Given the description of an element on the screen output the (x, y) to click on. 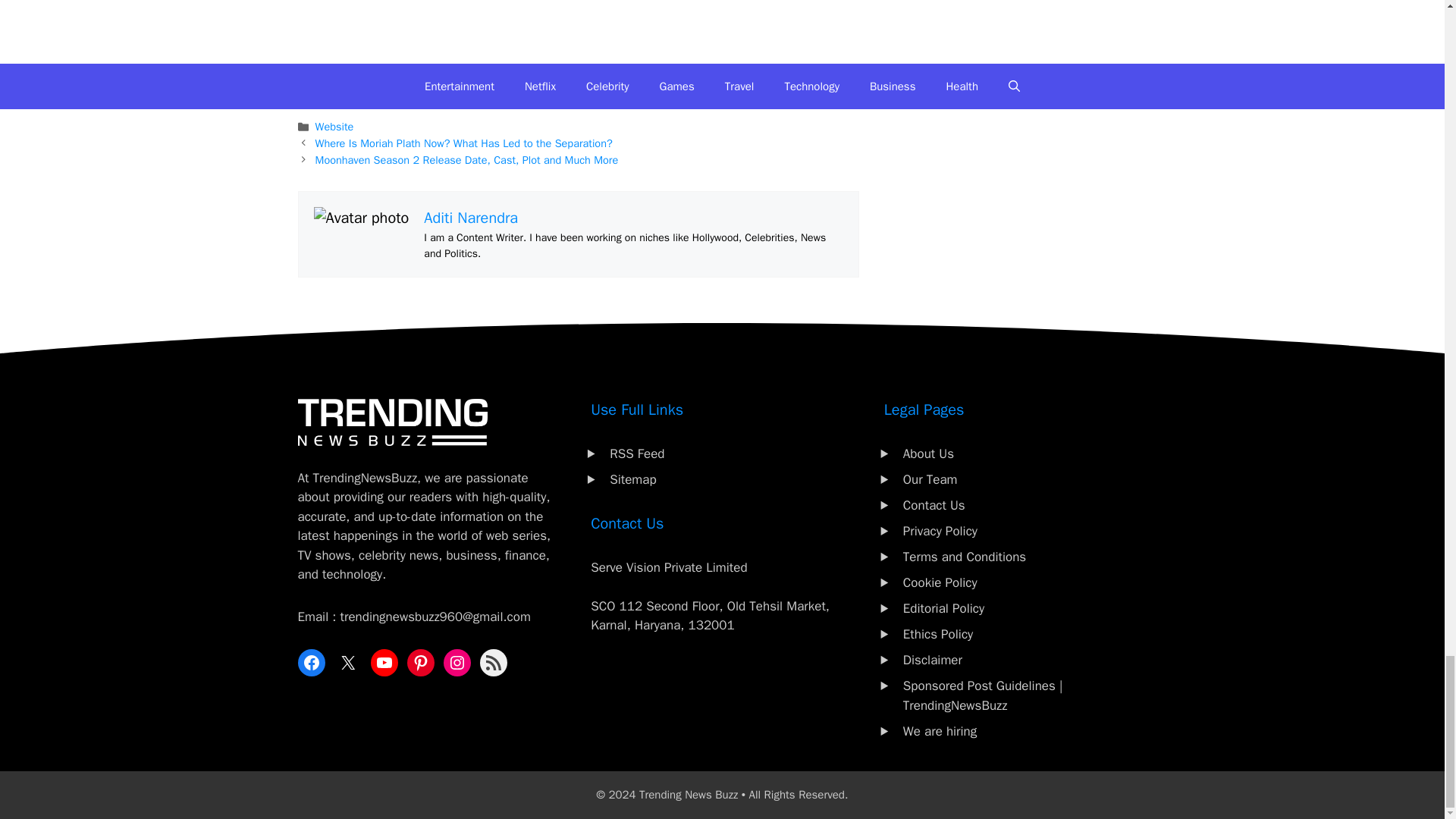
Website (334, 126)
Aditi Narendra (470, 217)
Where Is Moriah Plath Now? What Has Led to the Separation? (463, 142)
Moonhaven Season 2 Release Date, Cast, Plot and Much More (466, 160)
